Given the description of an element on the screen output the (x, y) to click on. 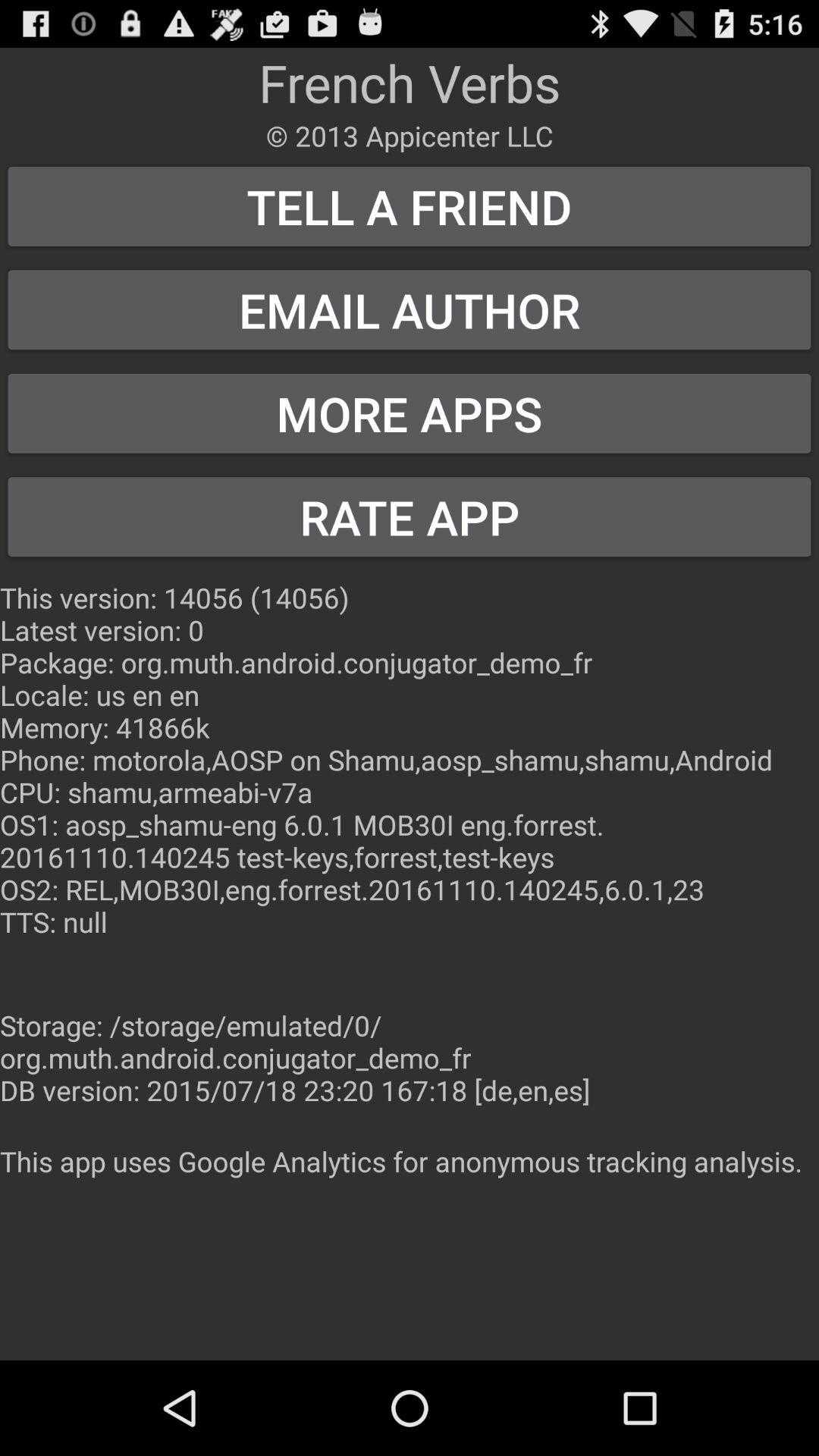
choose item above email author (409, 206)
